Given the description of an element on the screen output the (x, y) to click on. 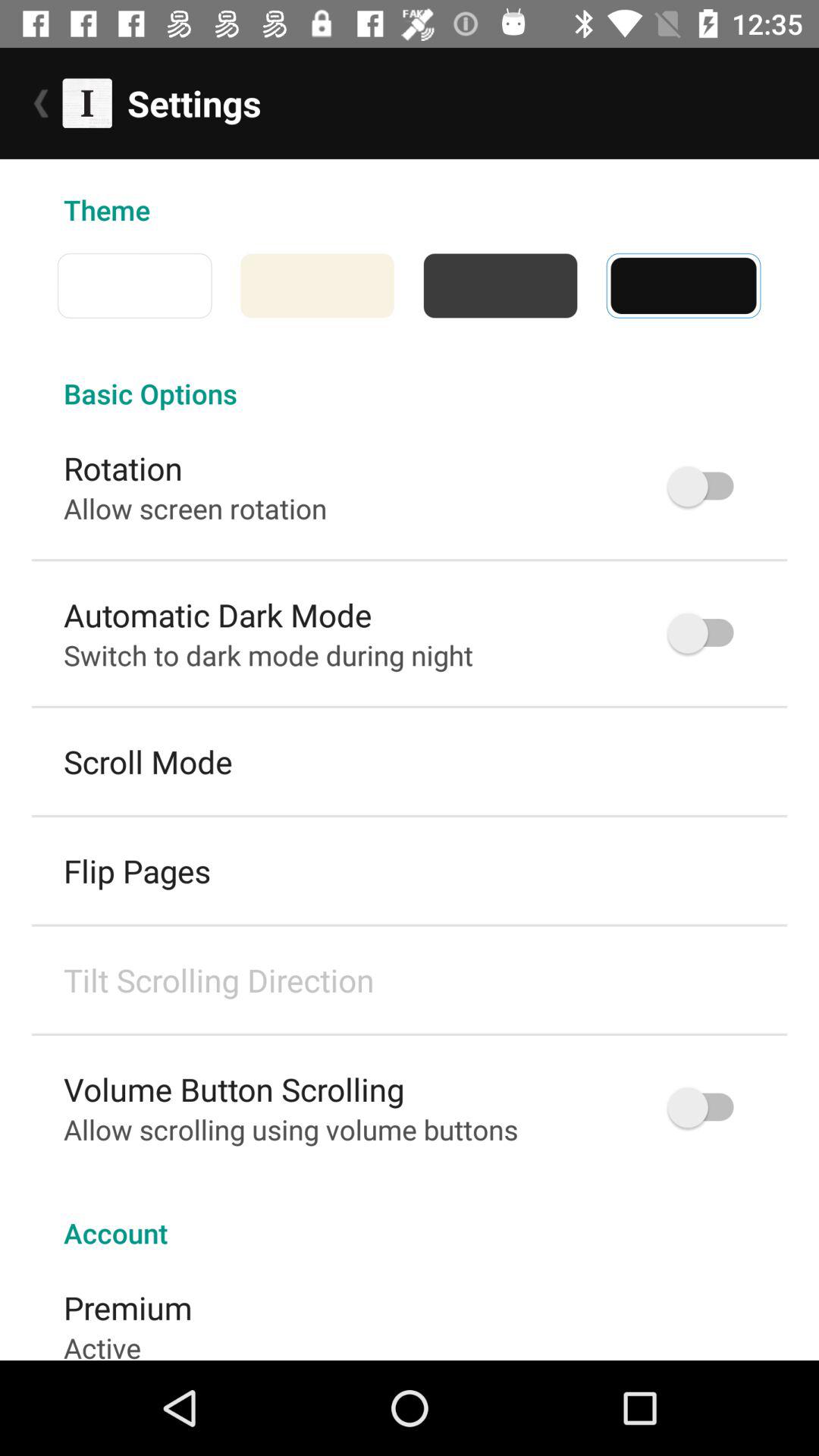
open item above the basic options (775, 285)
